Given the description of an element on the screen output the (x, y) to click on. 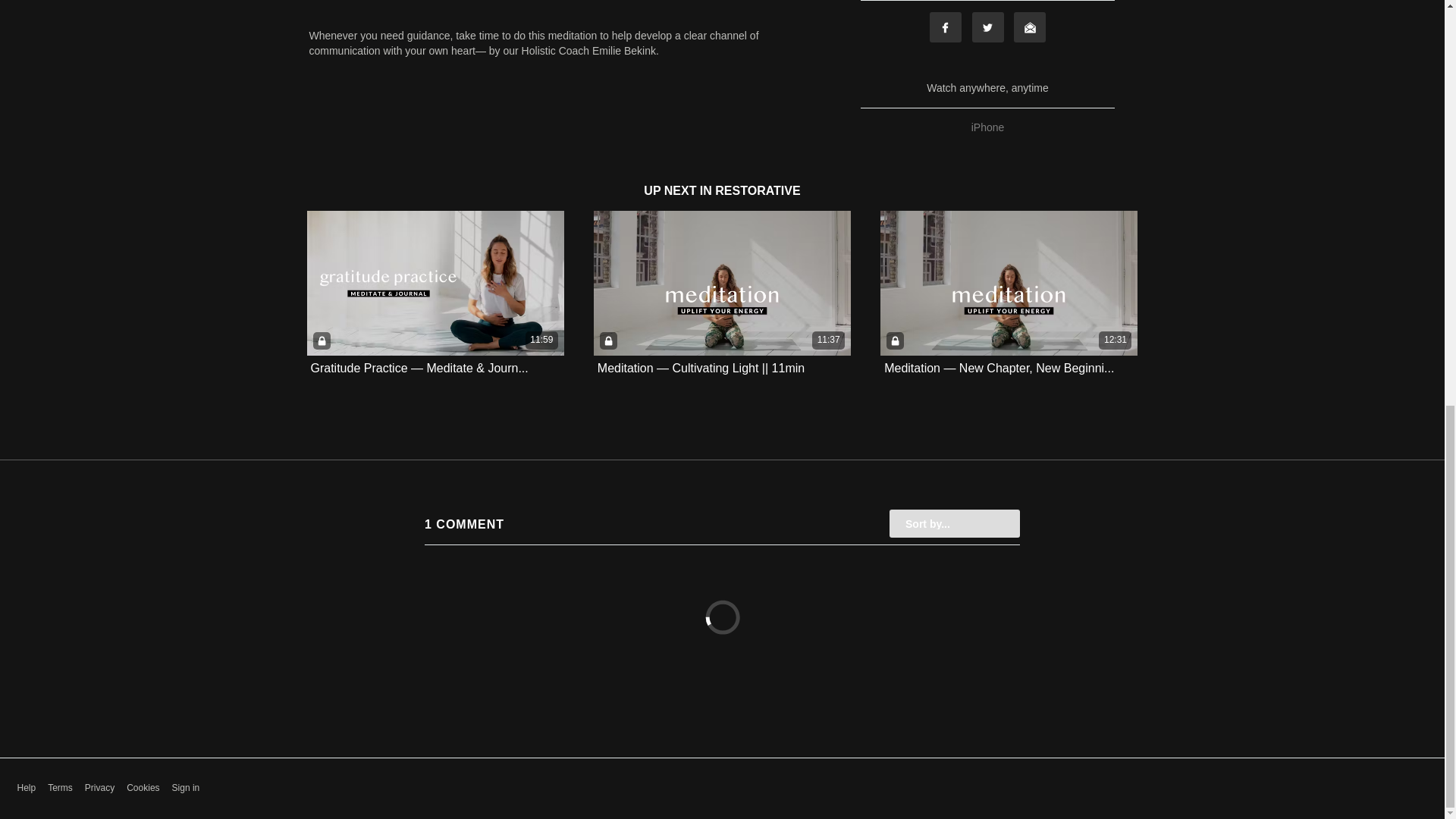
11:59 (434, 282)
12:31 (1008, 282)
Email (1029, 27)
Twitter (988, 27)
Facebook (945, 27)
11:37 (722, 282)
RESTORATIVE (756, 190)
Help (25, 788)
iPhone (988, 127)
